Given the description of an element on the screen output the (x, y) to click on. 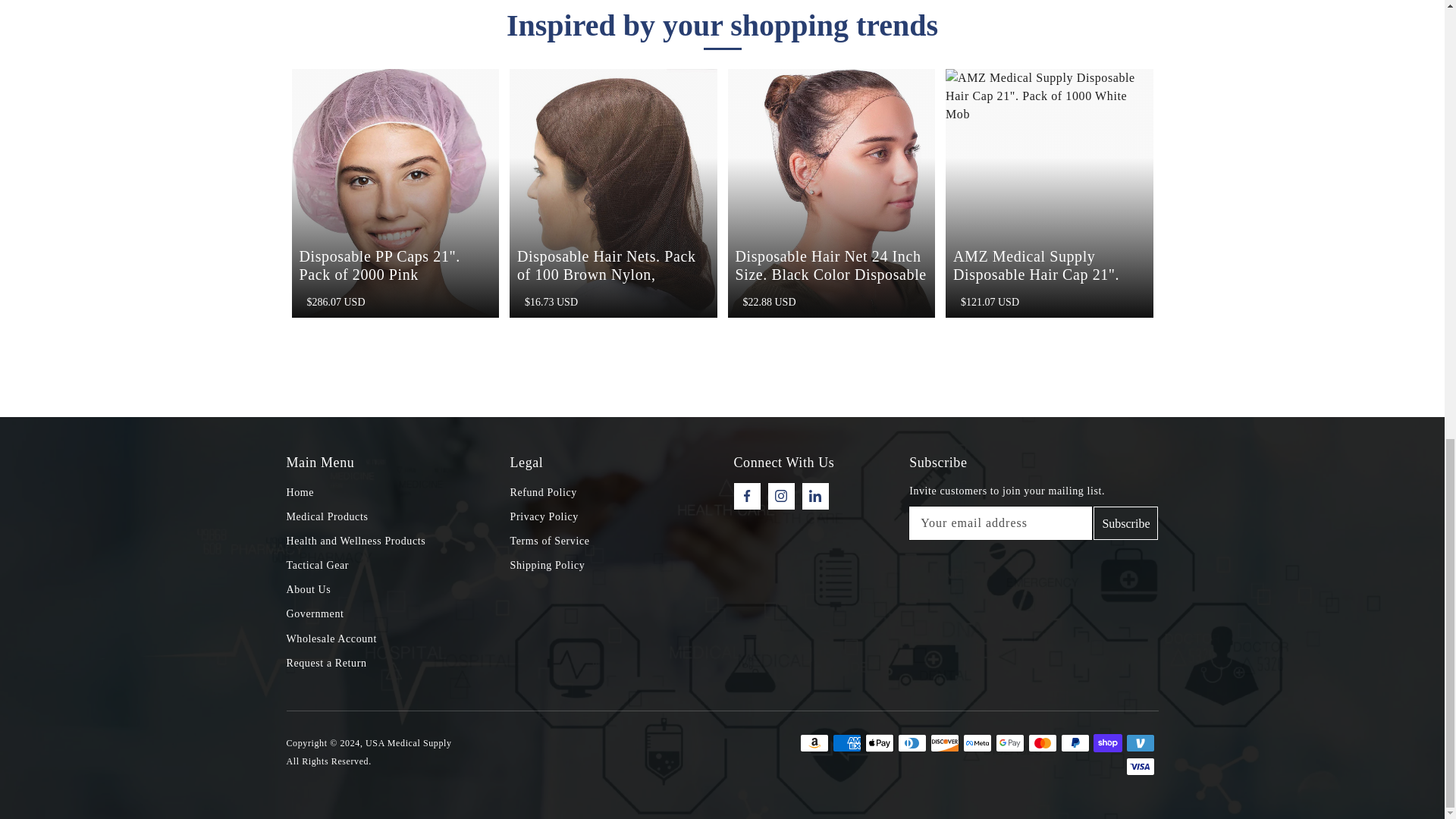
American Express (846, 742)
Google Pay (1008, 742)
Diners Club (912, 742)
Mastercard (1042, 742)
Amazon (813, 742)
Discover (944, 742)
Apple Pay (878, 742)
Meta Pay (976, 742)
